Given the description of an element on the screen output the (x, y) to click on. 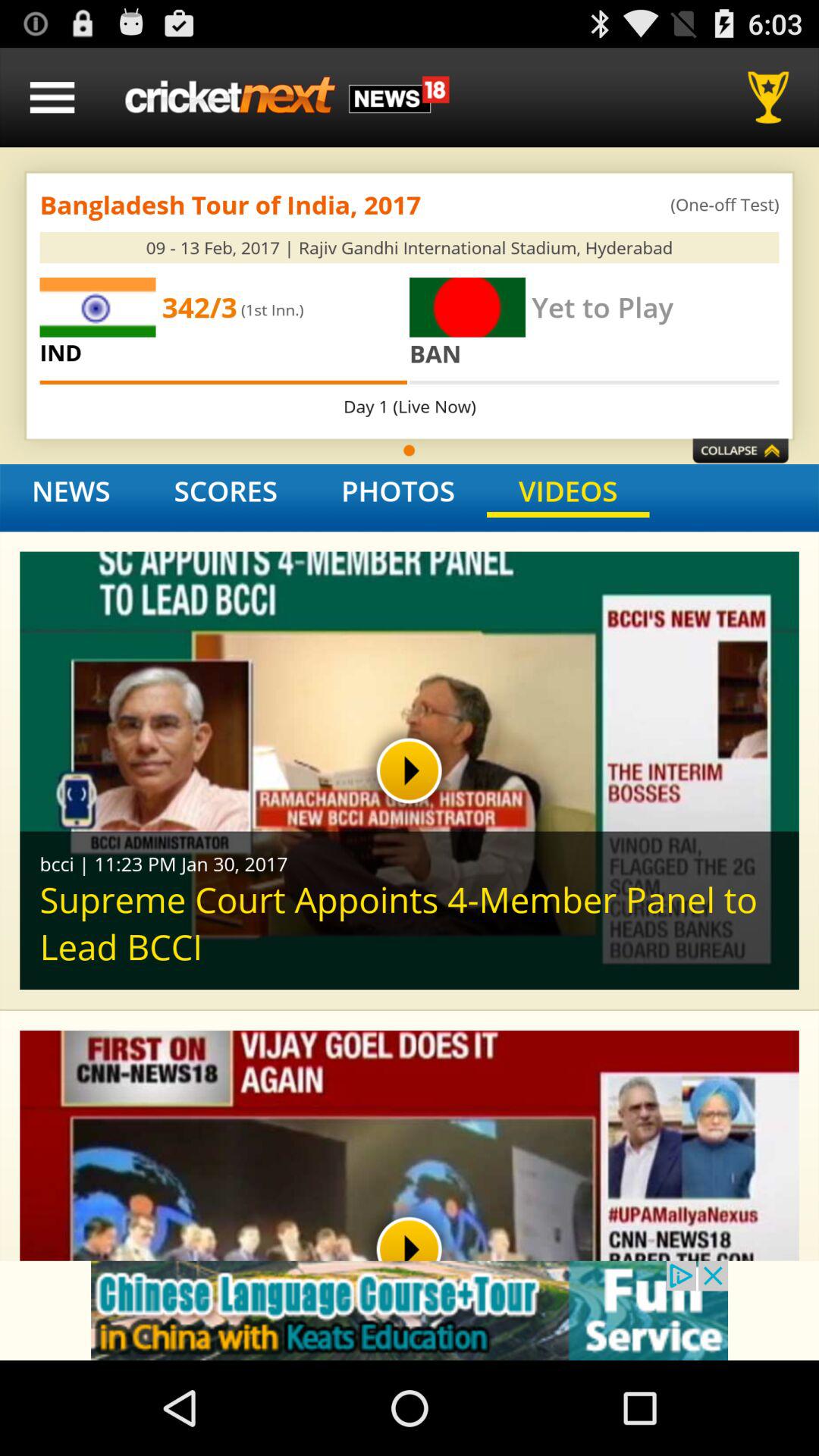
go to champions list (773, 97)
